Given the description of an element on the screen output the (x, y) to click on. 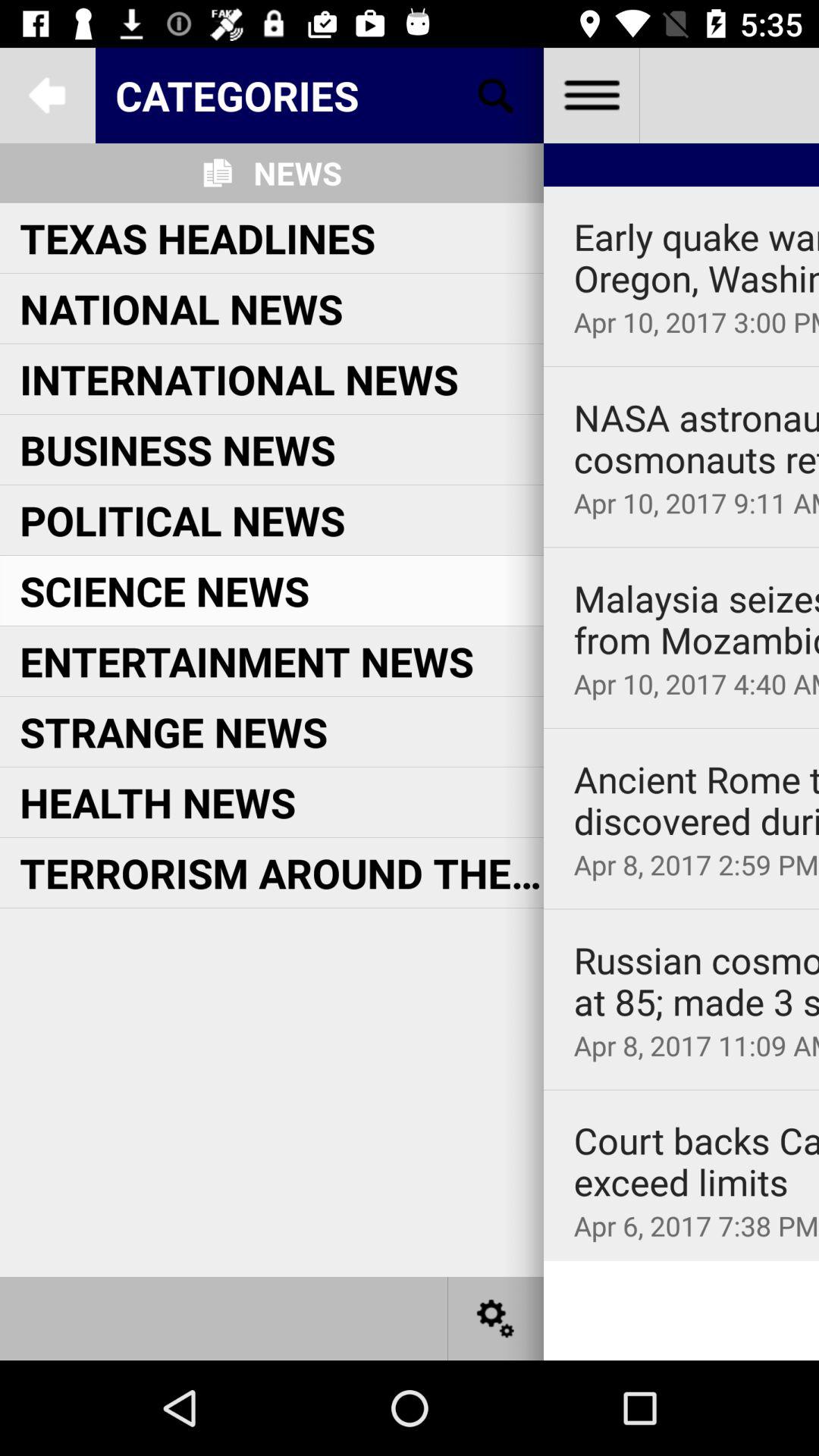
search for categories (495, 95)
